Given the description of an element on the screen output the (x, y) to click on. 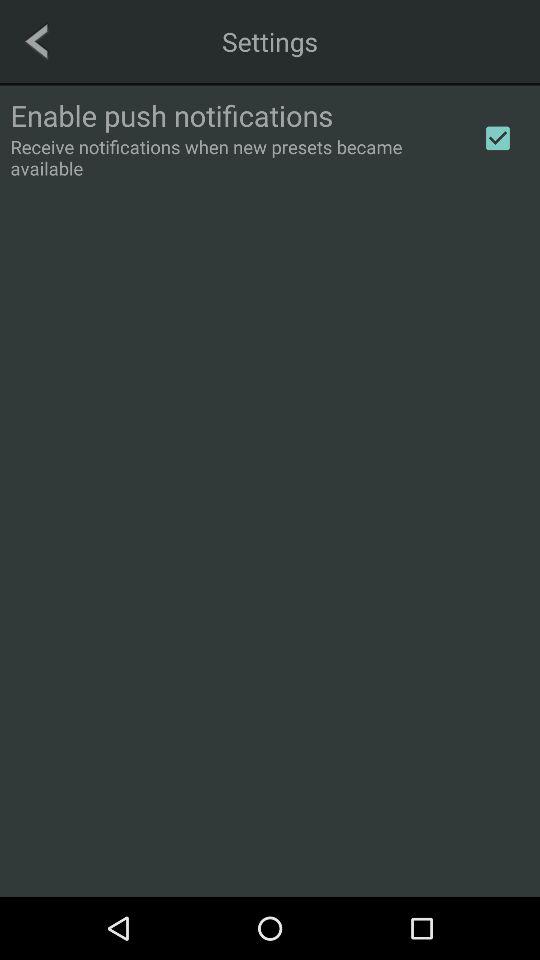
turn off icon at the top left corner (36, 41)
